Given the description of an element on the screen output the (x, y) to click on. 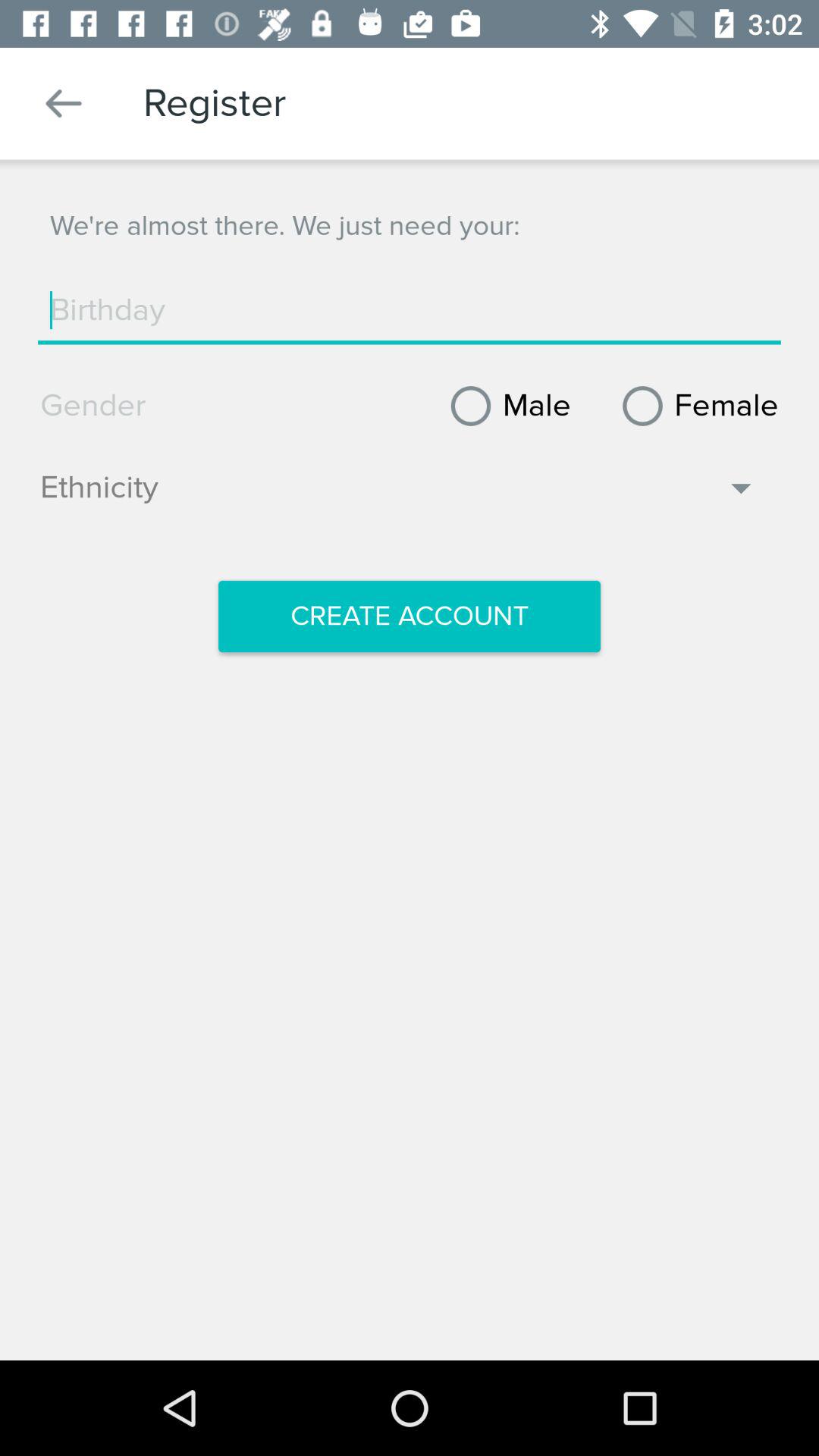
select ethnicity option (399, 494)
